Given the description of an element on the screen output the (x, y) to click on. 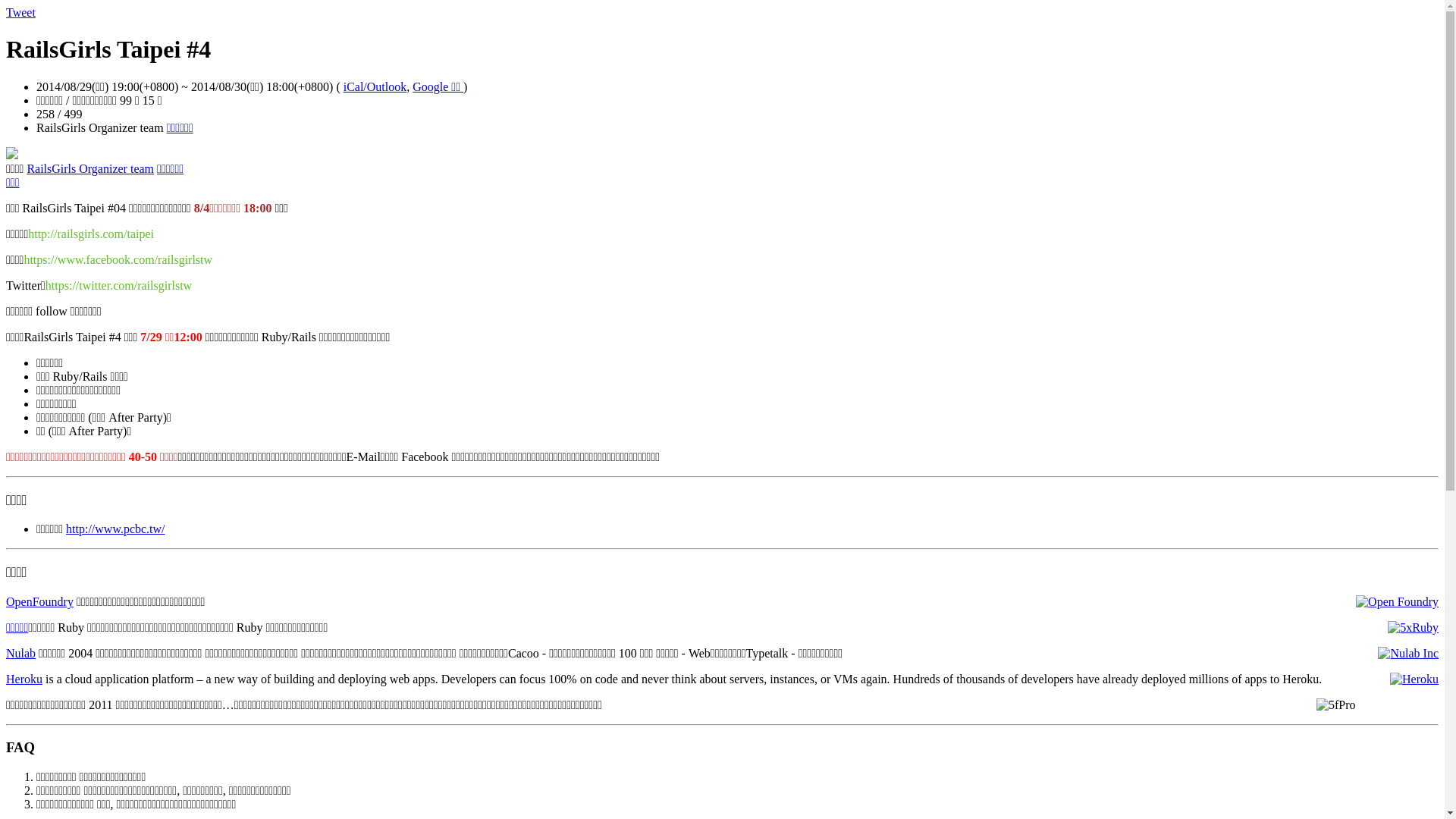
Heroku Element type: text (24, 678)
Tweet Element type: text (20, 12)
https://twitter.com/railsgirlstw Element type: text (118, 285)
https://www.facebook.com/railsgirlstw Element type: text (117, 259)
Nulab Element type: text (20, 652)
RailsGirls Organizer team Element type: text (89, 168)
http://www.pcbc.tw/ Element type: text (115, 528)
http://railsgirls.com/taipei Element type: text (90, 233)
iCal/Outlook Element type: text (375, 86)
OpenFoundry Element type: text (39, 601)
